Given the description of an element on the screen output the (x, y) to click on. 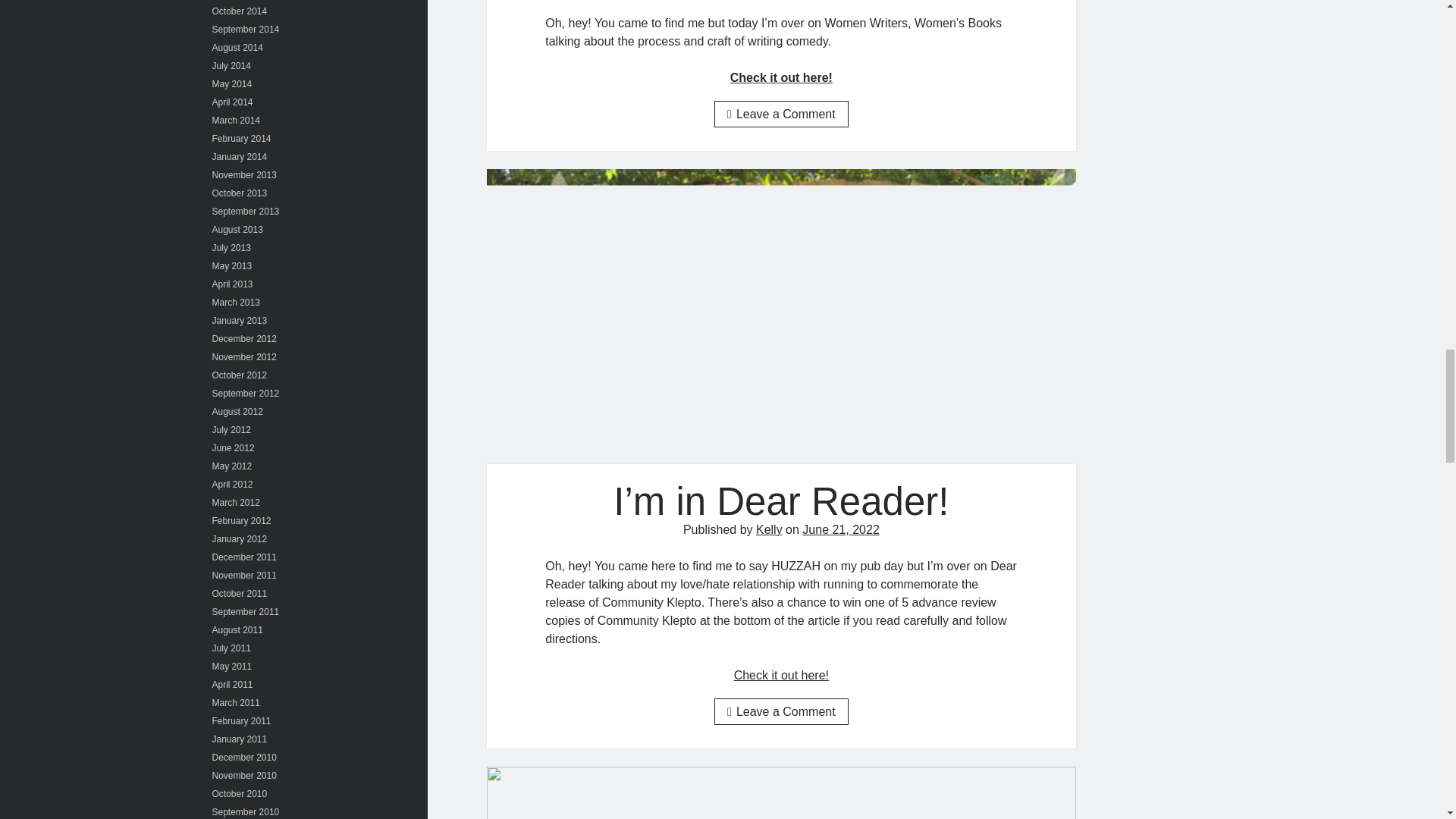
comment icon (731, 114)
comment icon (731, 711)
